Given the description of an element on the screen output the (x, y) to click on. 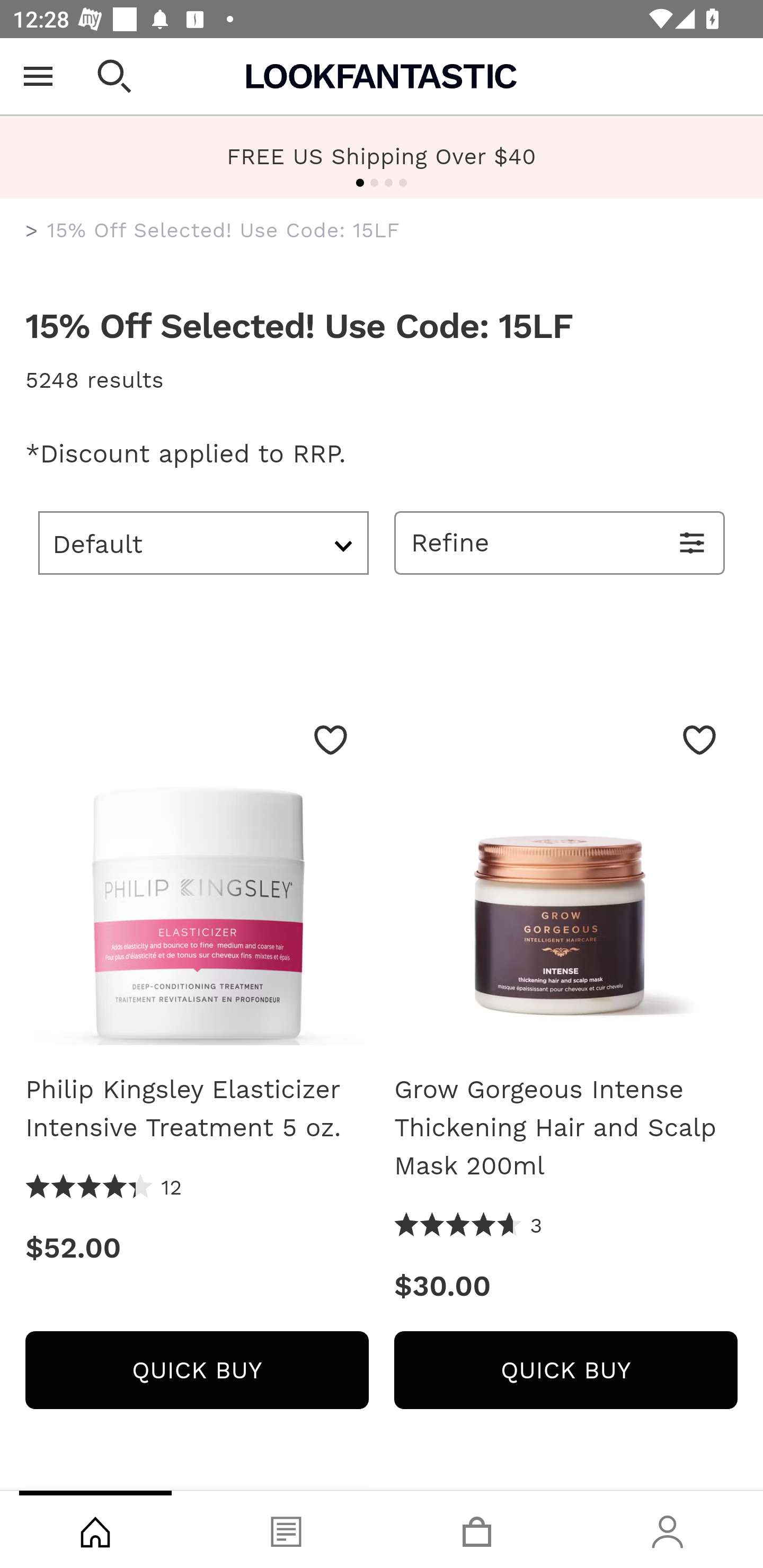
Open Menu (38, 75)
Open search (114, 75)
Lookfantastic USA (381, 75)
FREE US Shipping Over $40 (381, 157)
FREE US Shipping Over $40 (381, 155)
us.lookfantastic (32, 230)
Default (203, 542)
Refine (559, 542)
Save to Wishlist (330, 740)
Save to Wishlist (698, 740)
4.33 Stars 12 Reviews (104, 1187)
4.67 Stars 3 Reviews (468, 1225)
Price: $52.00 (196, 1247)
Price: $30.00 (565, 1286)
Shop, tab, 1 of 4 (95, 1529)
Blog, tab, 2 of 4 (285, 1529)
Basket, tab, 3 of 4 (476, 1529)
Account, tab, 4 of 4 (667, 1529)
